Given the description of an element on the screen output the (x, y) to click on. 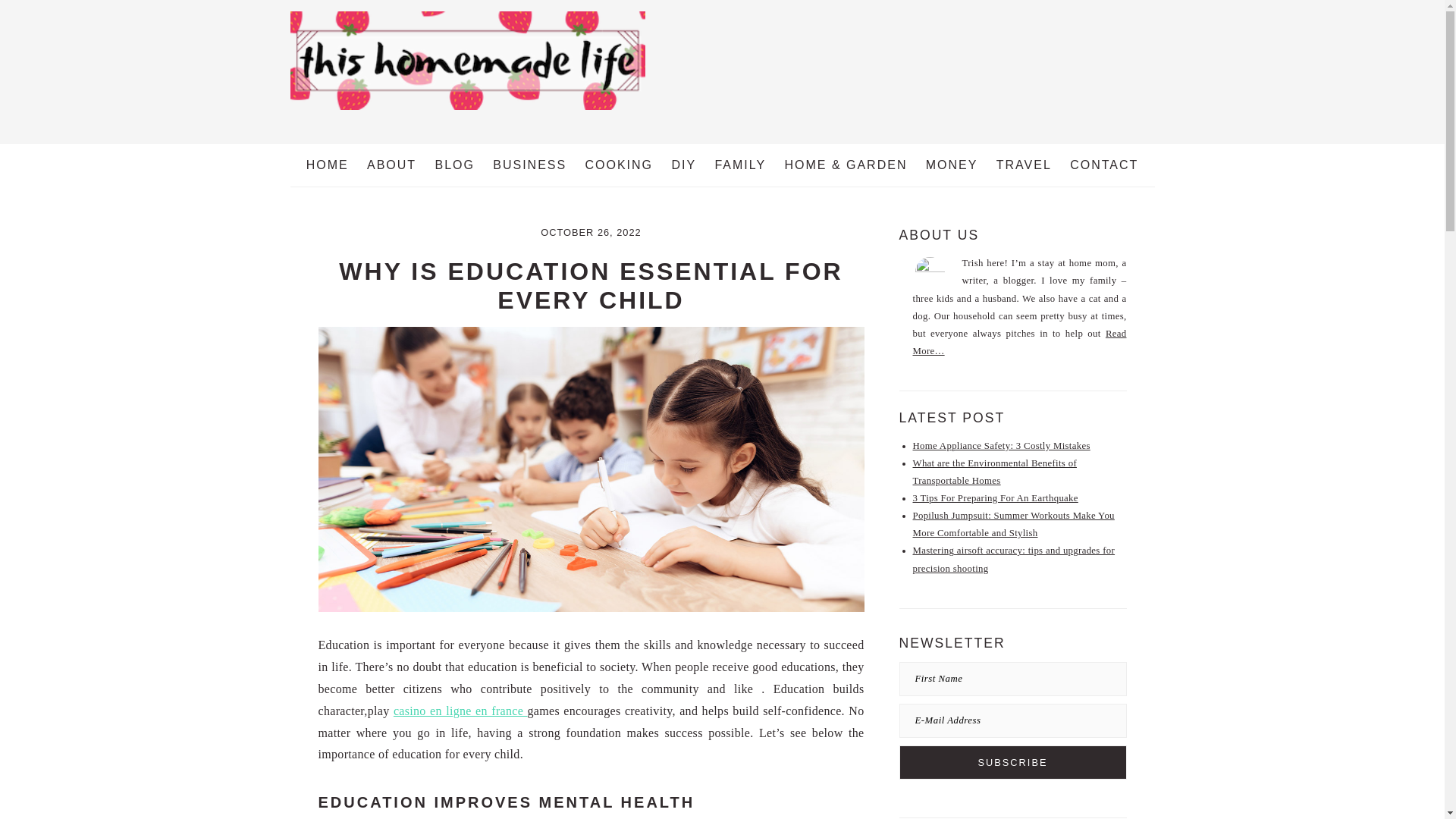
3 Tips For Preparing For An Earthquake (995, 498)
TRAVEL (1023, 165)
COOKING (619, 165)
Subscribe (1012, 762)
CONTACT (1103, 165)
FAMILY (739, 165)
Home Appliance Safety: 3 Costly Mistakes (1001, 445)
casino en ligne en france (460, 710)
What are the Environmental Benefits of Transportable Homes (994, 471)
